Given the description of an element on the screen output the (x, y) to click on. 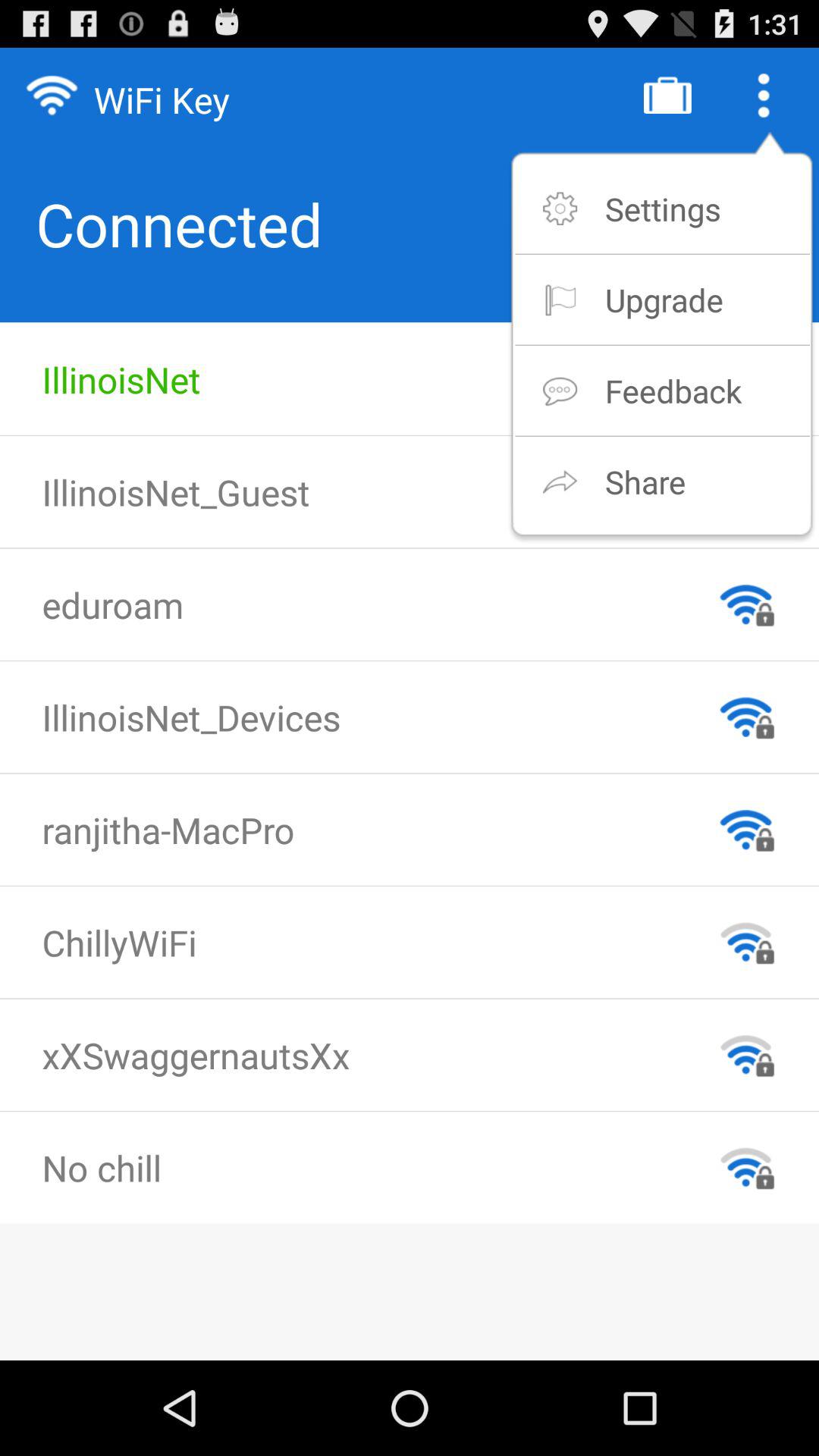
turn on item above share item (673, 390)
